Given the description of an element on the screen output the (x, y) to click on. 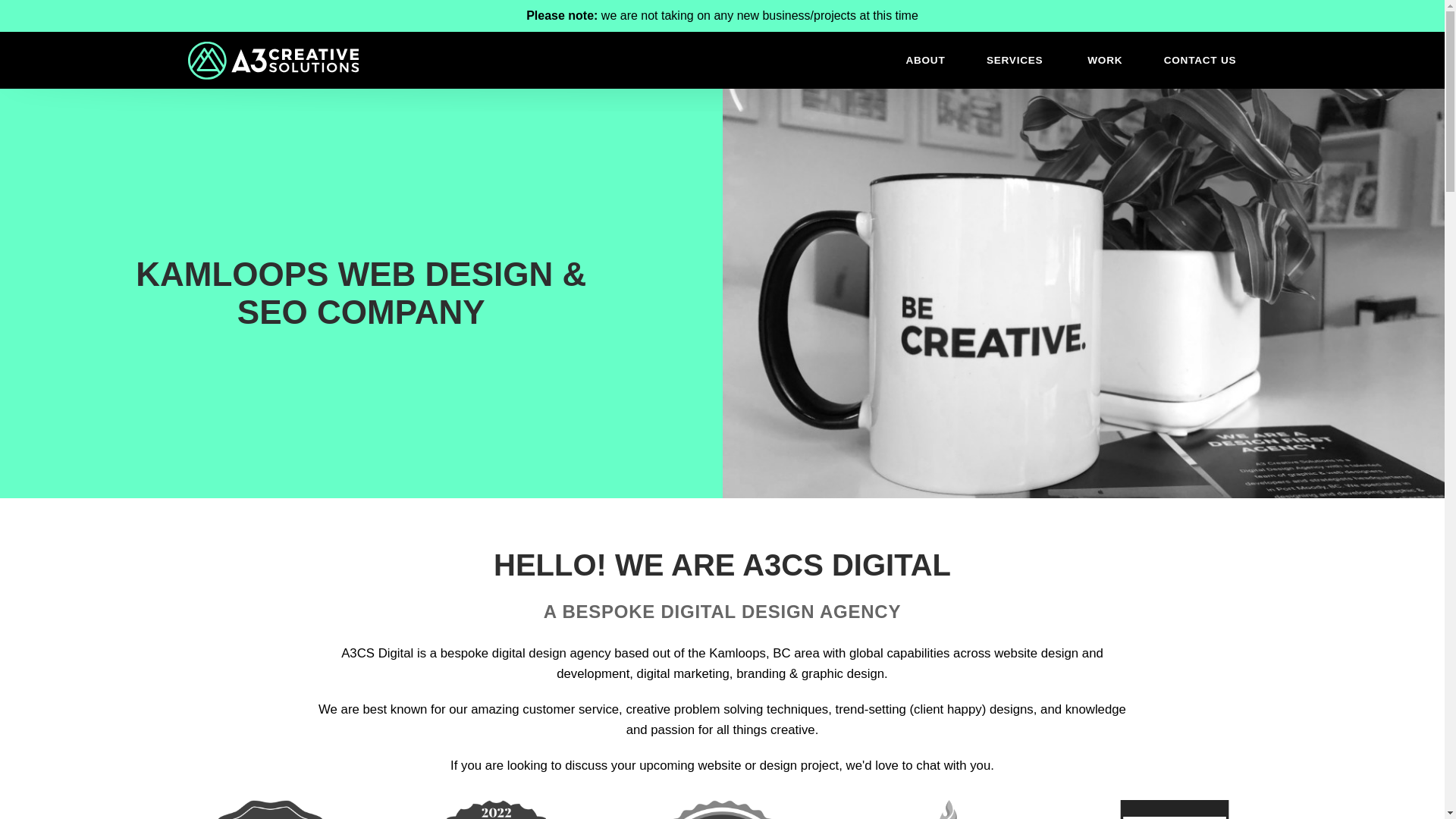
SERVICES (1016, 59)
CONTACT US (1199, 59)
Contact Us (1199, 59)
Work Portfolio (1104, 59)
Services (1016, 59)
WORK (1104, 59)
About (925, 59)
ABOUT (925, 59)
